Given the description of an element on the screen output the (x, y) to click on. 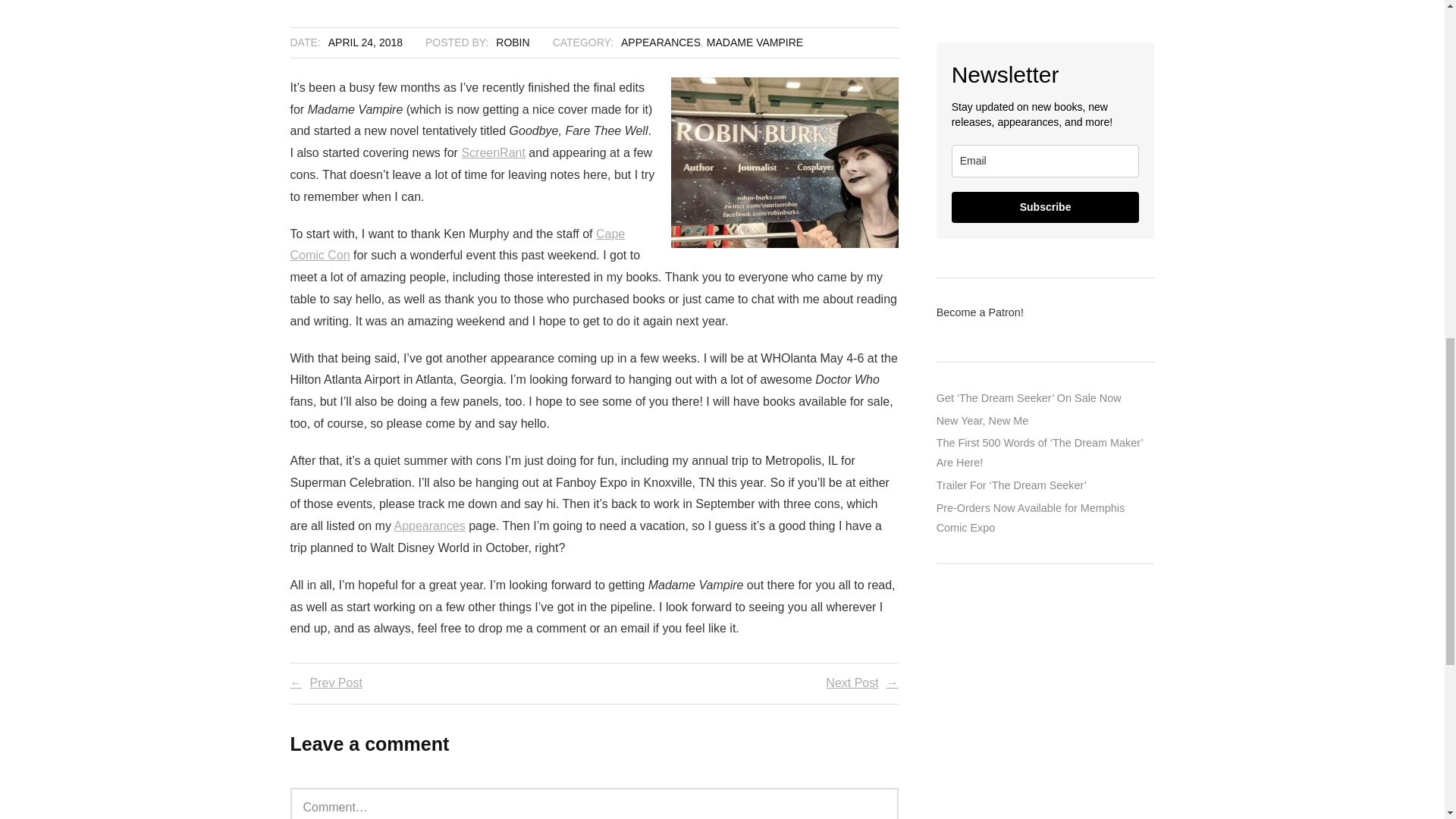
View all posts by Robin (512, 42)
